Given the description of an element on the screen output the (x, y) to click on. 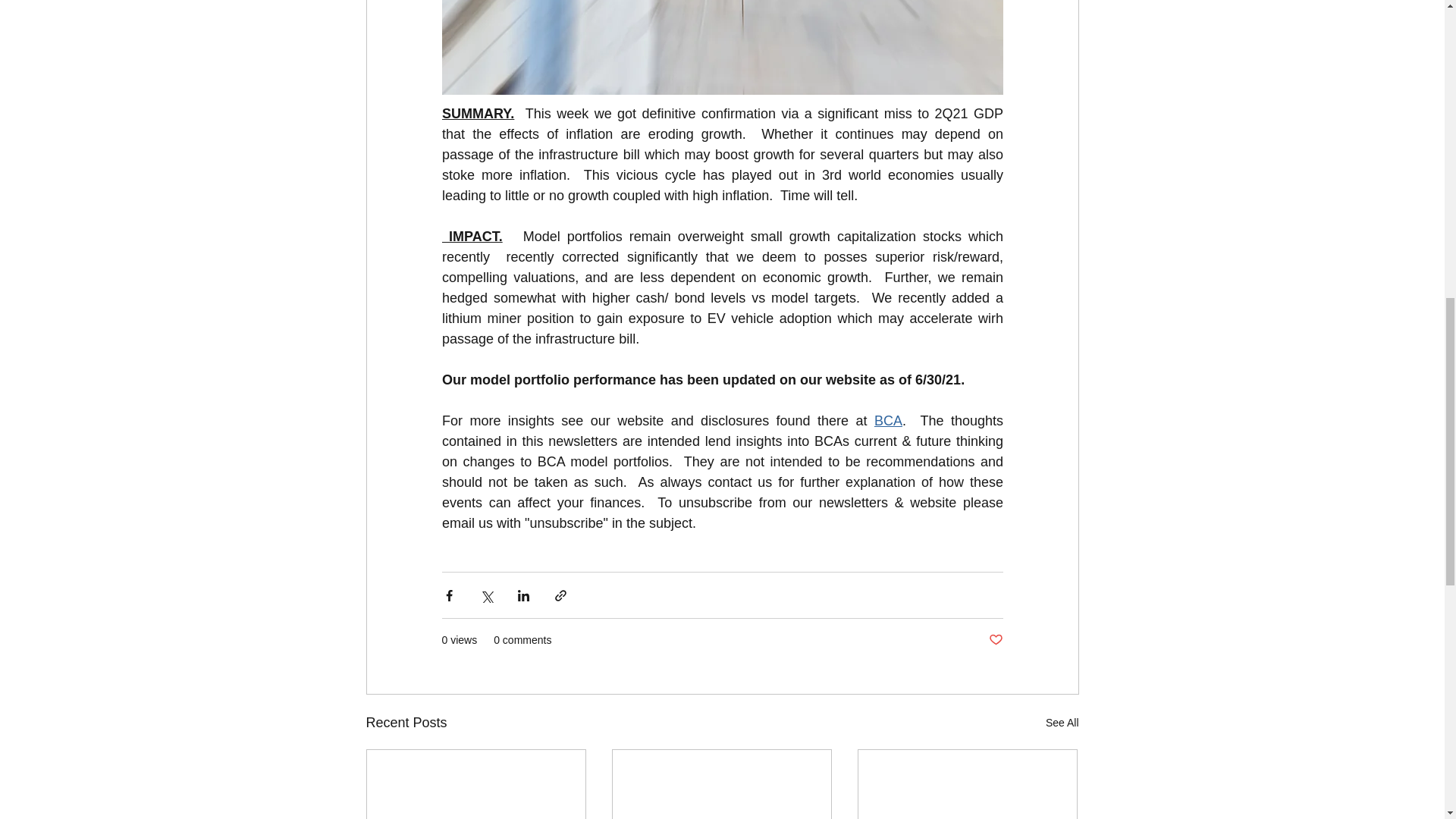
See All (1061, 722)
Post not marked as liked (995, 640)
BCA (887, 420)
